Given the description of an element on the screen output the (x, y) to click on. 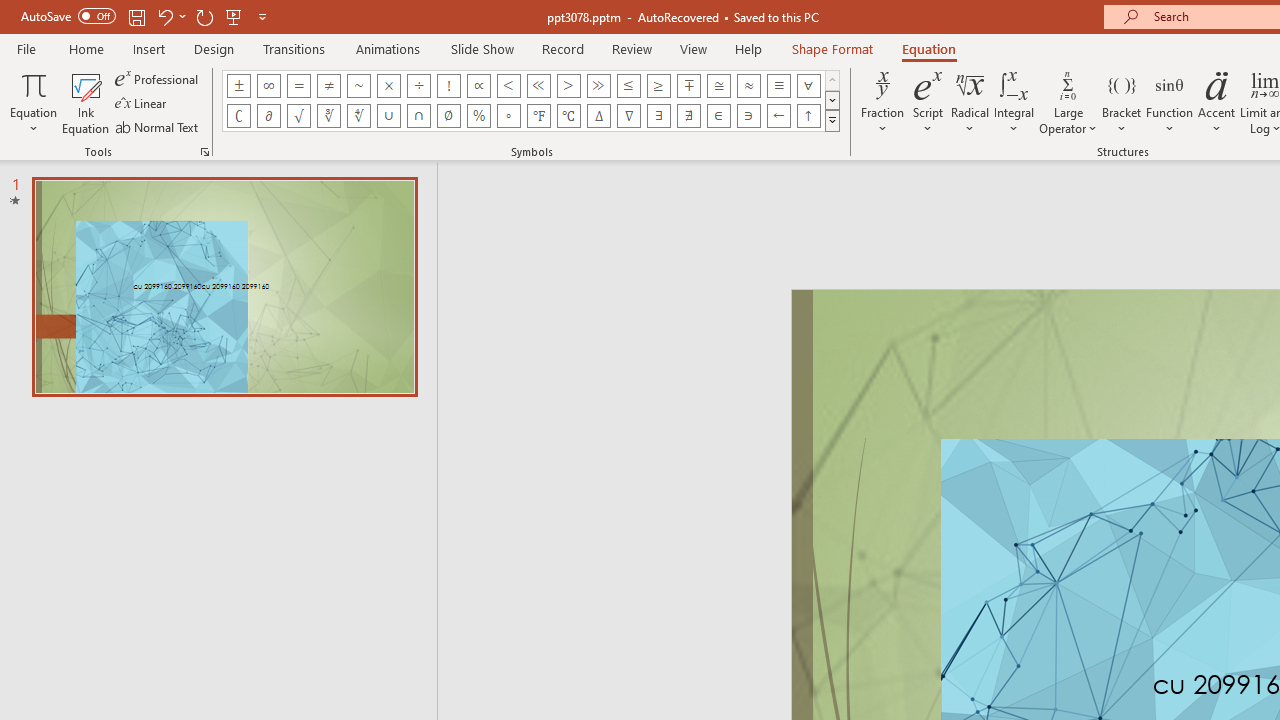
Equation Symbol Up Arrow (808, 115)
Equation Symbol Complement (238, 115)
Equation Symbol Minus Plus (689, 85)
Equation Symbol Radical Sign (298, 115)
Equation Symbol Intersection (418, 115)
Equation Options... (204, 151)
Bracket (1121, 102)
Equation Symbol Infinity (268, 85)
Normal Text (158, 126)
Equation Symbol Greater Than (568, 85)
